Given the description of an element on the screen output the (x, y) to click on. 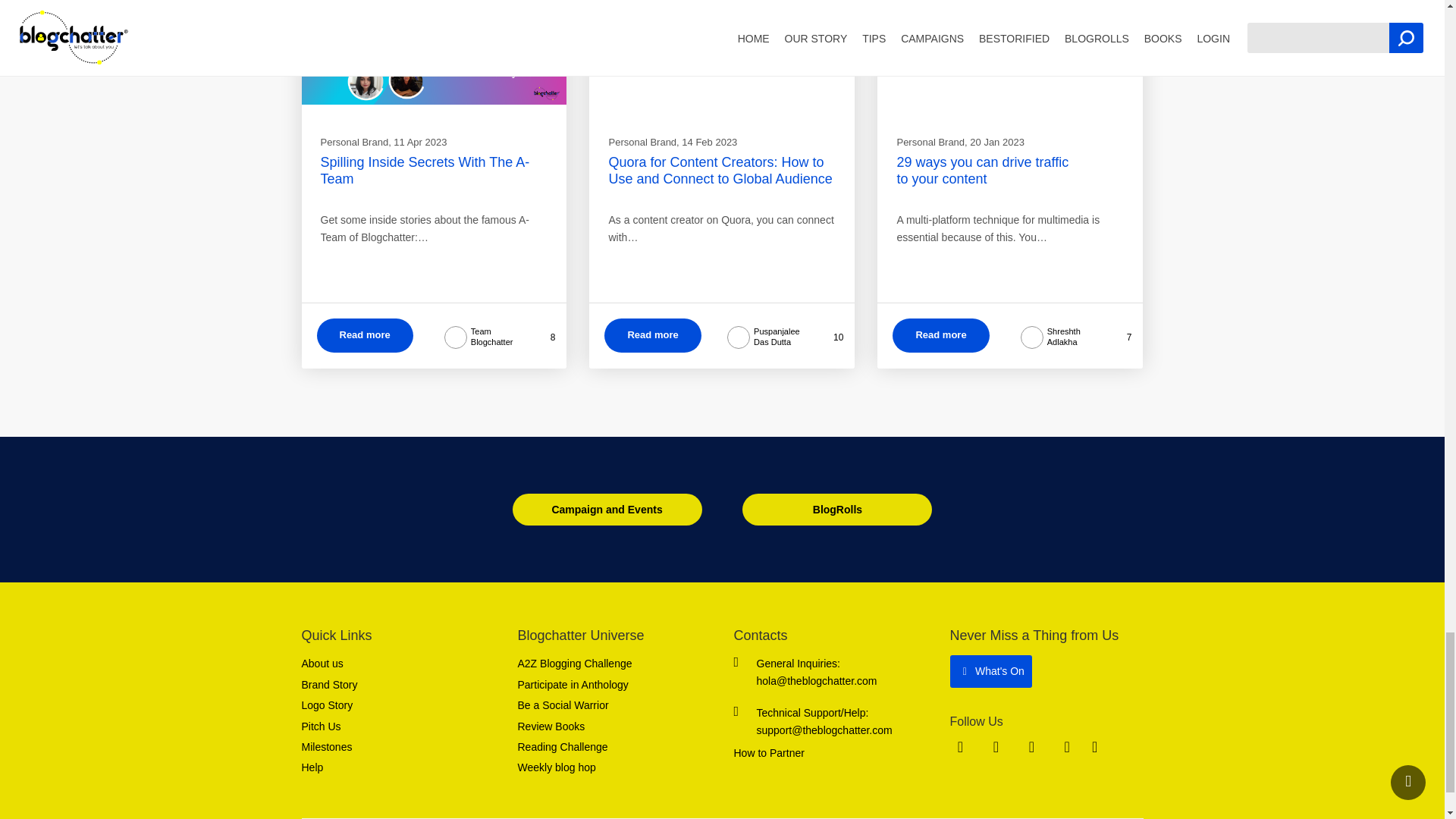
Like this post (540, 336)
Like this post (1117, 336)
Like this post (825, 336)
